Given the description of an element on the screen output the (x, y) to click on. 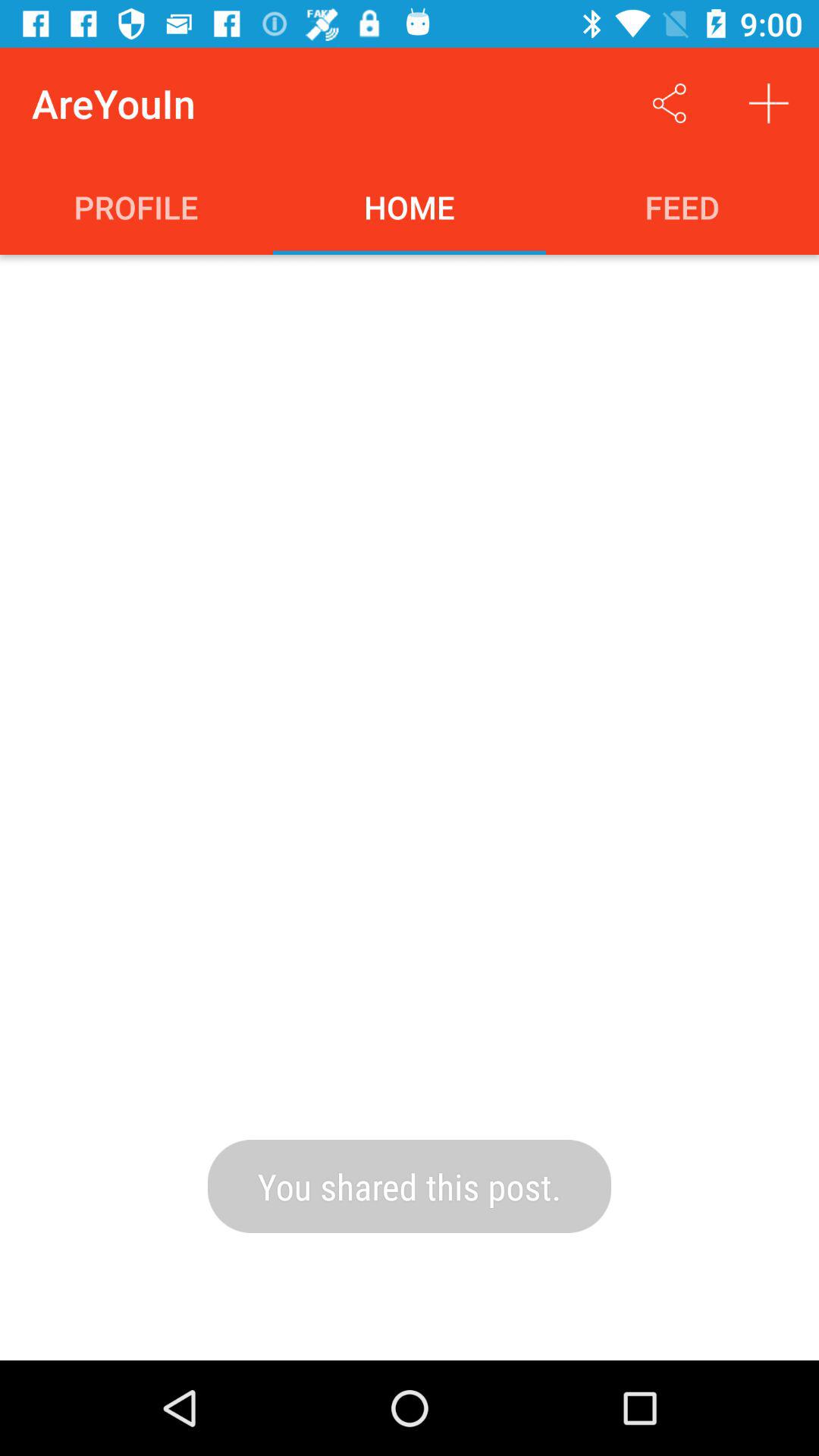
add information (769, 103)
